Given the description of an element on the screen output the (x, y) to click on. 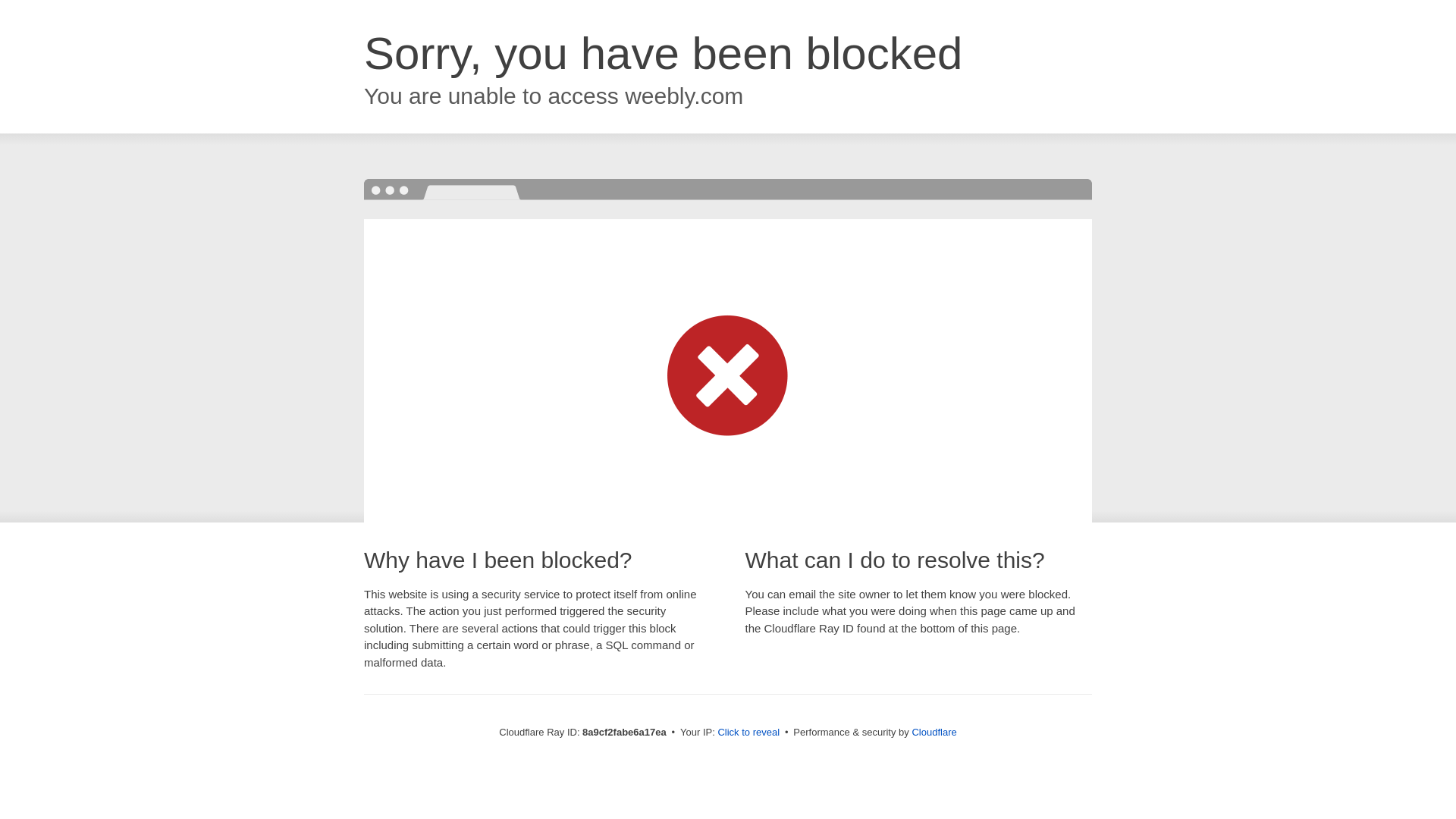
Cloudflare (933, 731)
Click to reveal (747, 732)
